Given the description of an element on the screen output the (x, y) to click on. 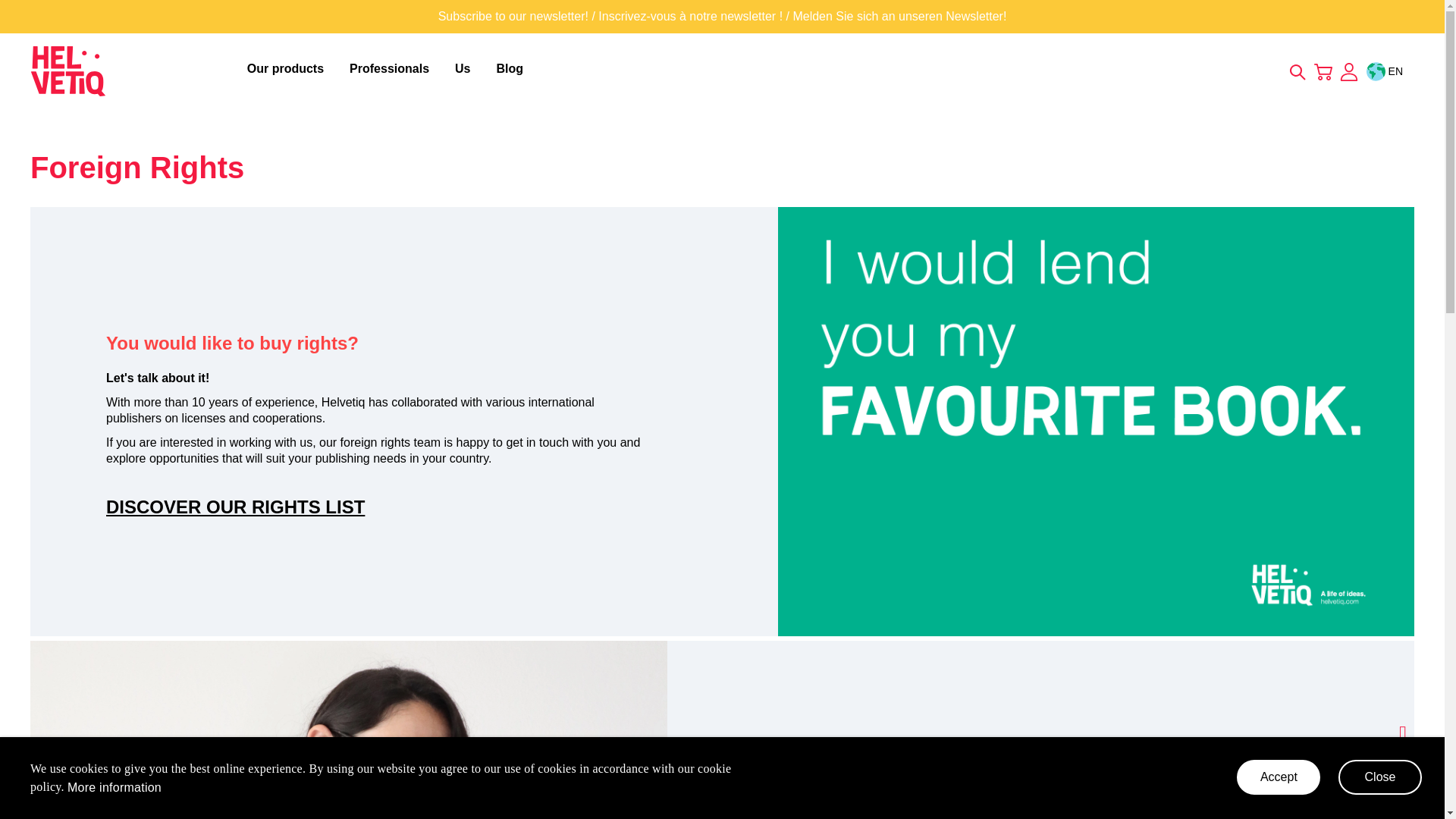
Professionals (392, 69)
My Cart (1323, 70)
Blog (509, 69)
Helvetiq (68, 71)
Sign In (1348, 72)
Us (464, 69)
Our products (288, 69)
Helvetiq (134, 71)
